Given the description of an element on the screen output the (x, y) to click on. 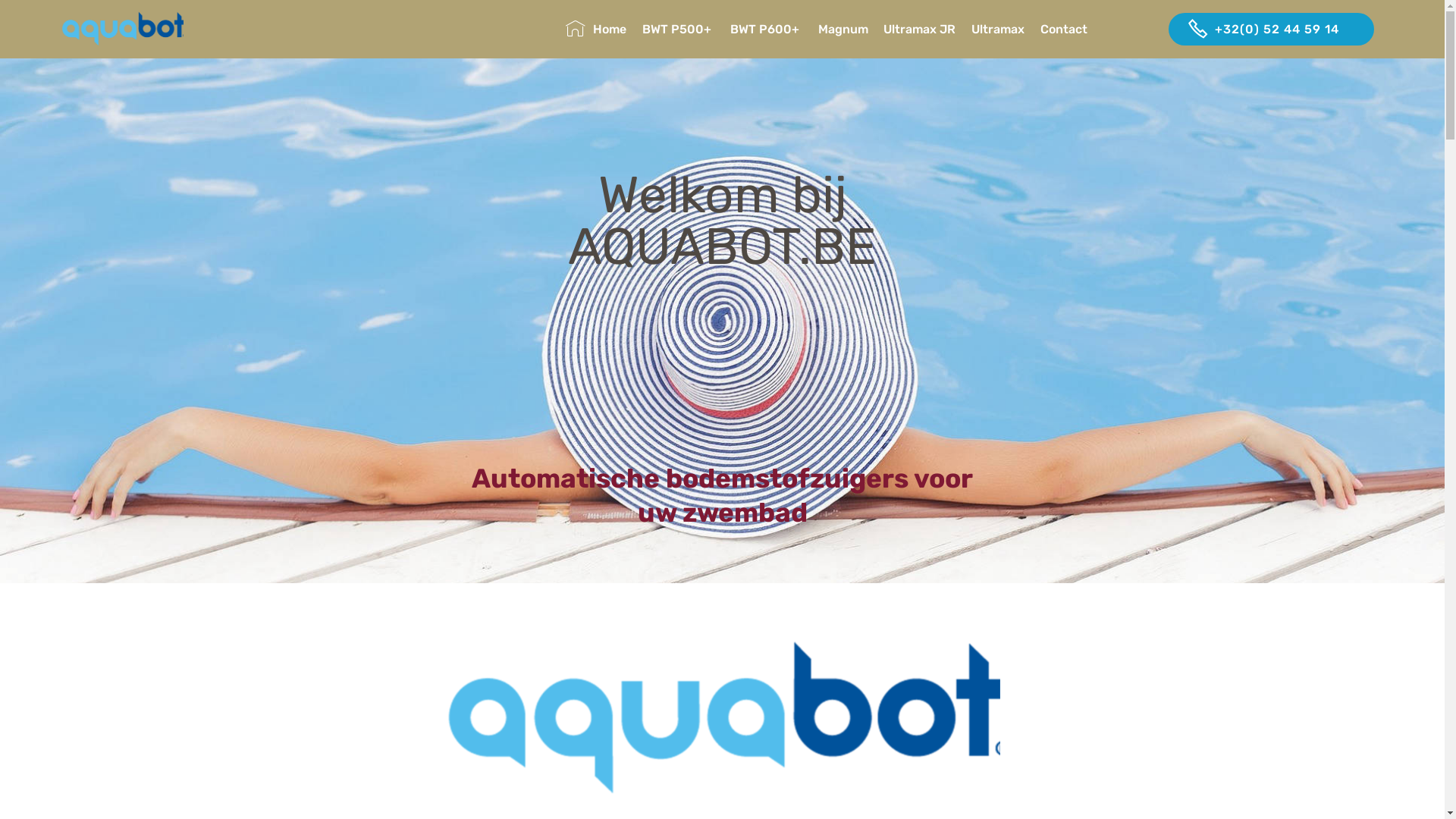
Ultramax JR Element type: text (919, 28)
Magnum Element type: text (843, 28)
Contact                      Element type: text (1095, 28)
BWT P500+  Element type: text (678, 28)
Ultramax Element type: text (997, 28)
BWT P600+  Element type: text (766, 28)
Home Element type: text (595, 28)
+32(0) 52 44 59 14     Element type: text (1271, 28)
